Given the description of an element on the screen output the (x, y) to click on. 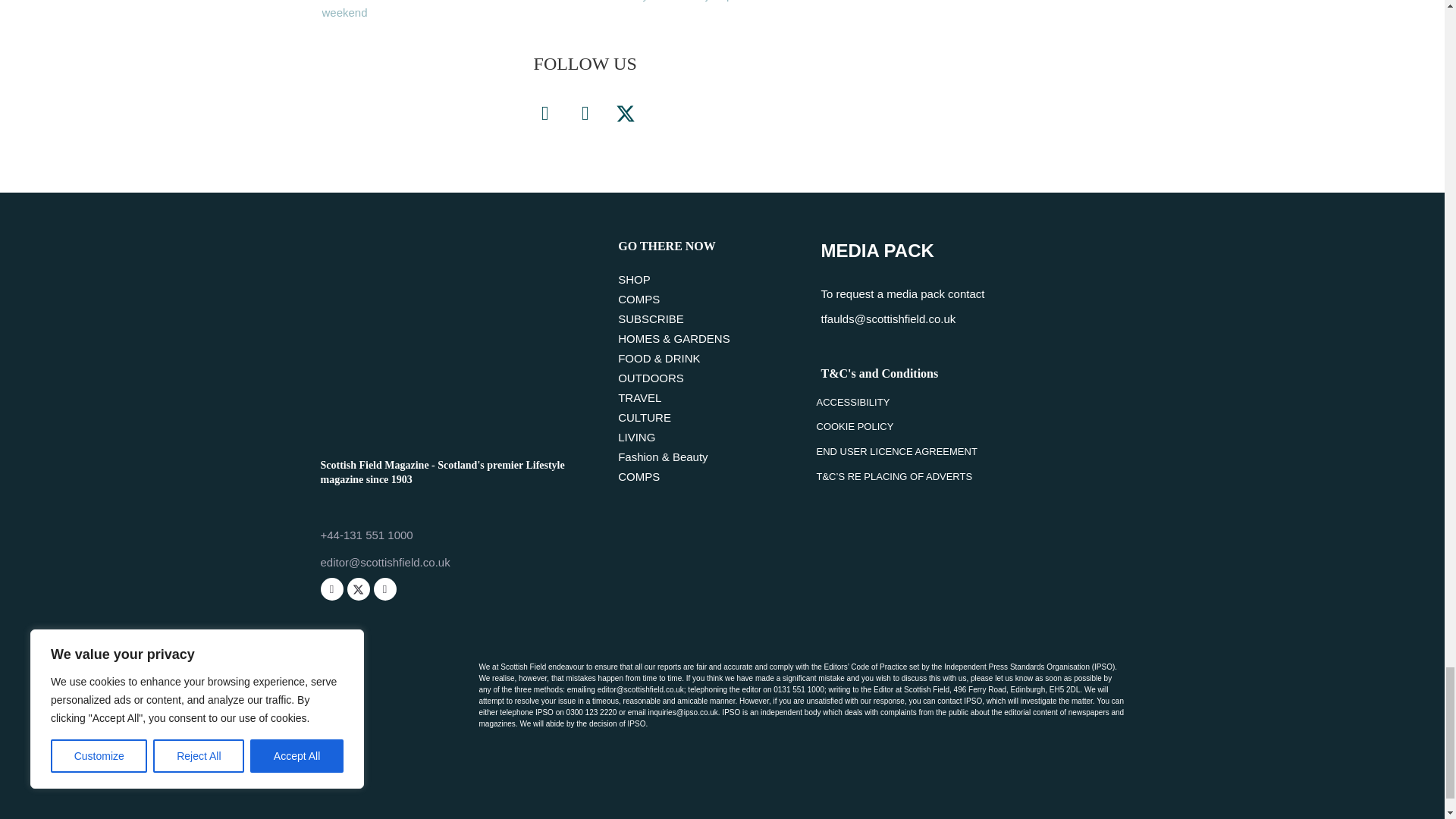
Facebook (544, 113)
Instagram (384, 589)
Facebook (331, 589)
Instagram (584, 113)
